Given the description of an element on the screen output the (x, y) to click on. 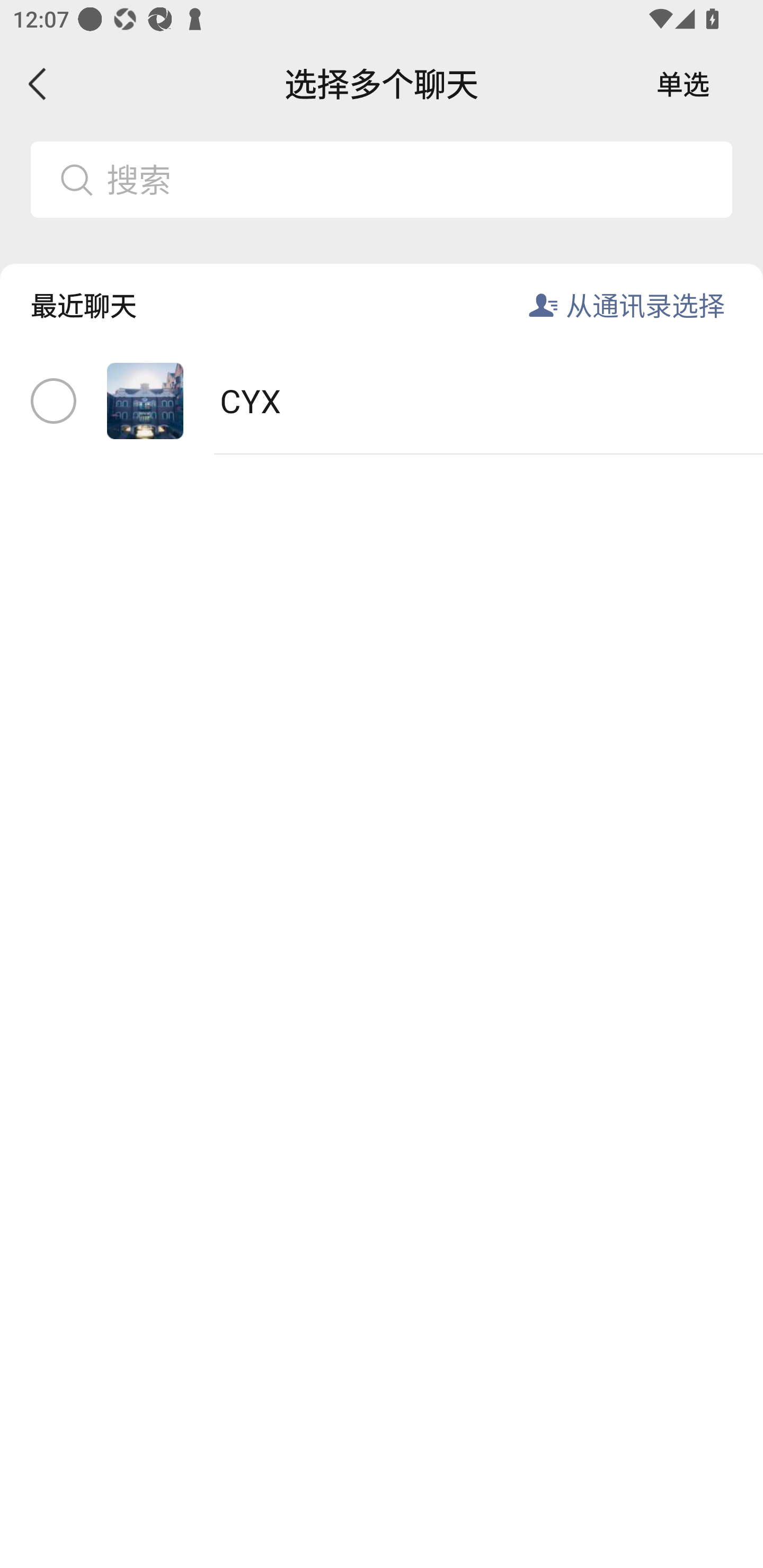
返回 (38, 83)
单选 (683, 83)
搜索 (411, 179)
从通讯录选择 (645, 304)
CYX (381, 401)
